Given the description of an element on the screen output the (x, y) to click on. 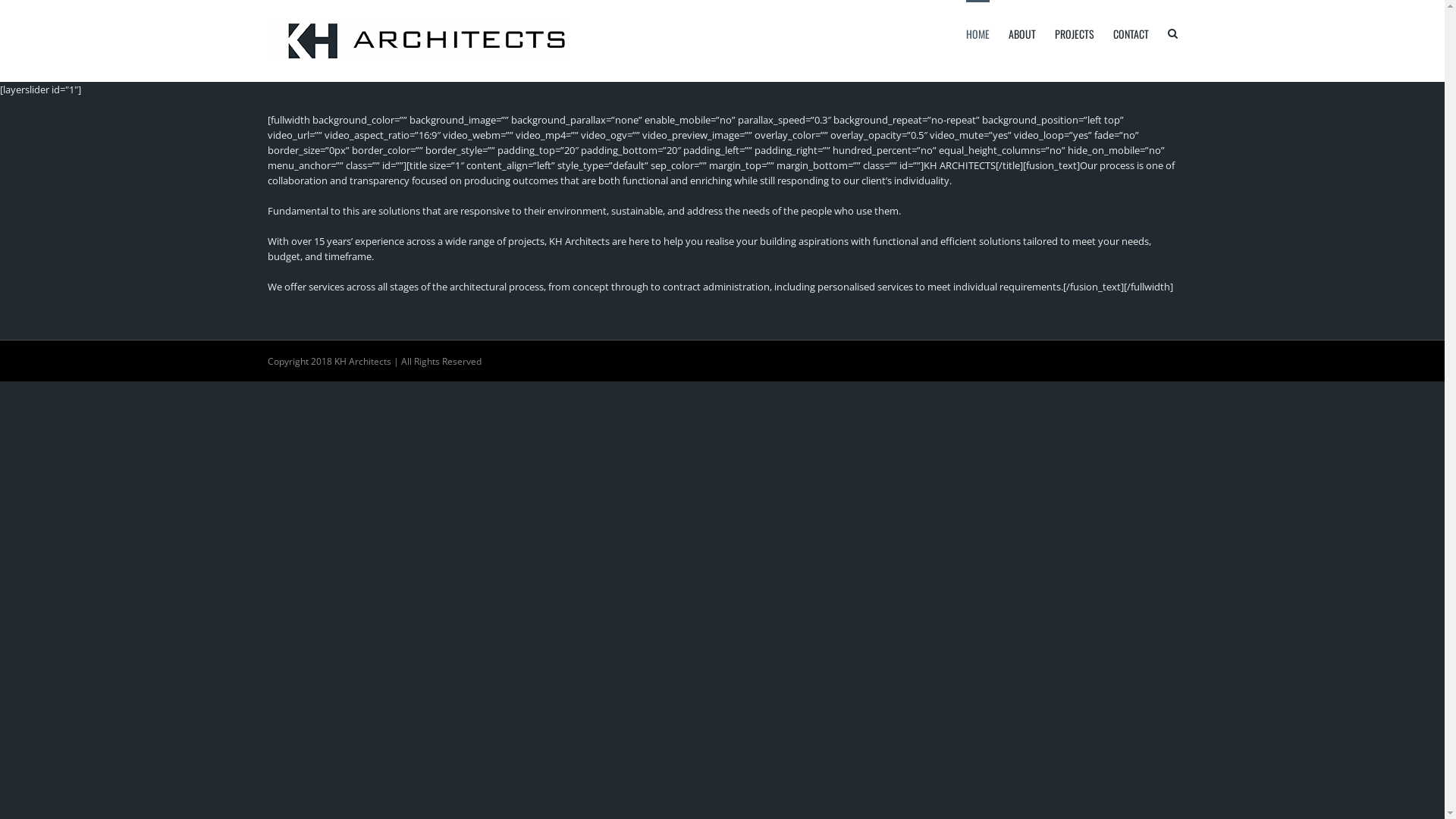
HOME Element type: text (977, 32)
CONTACT Element type: text (1130, 32)
ABOUT Element type: text (1021, 32)
PROJECTS Element type: text (1073, 32)
